Given the description of an element on the screen output the (x, y) to click on. 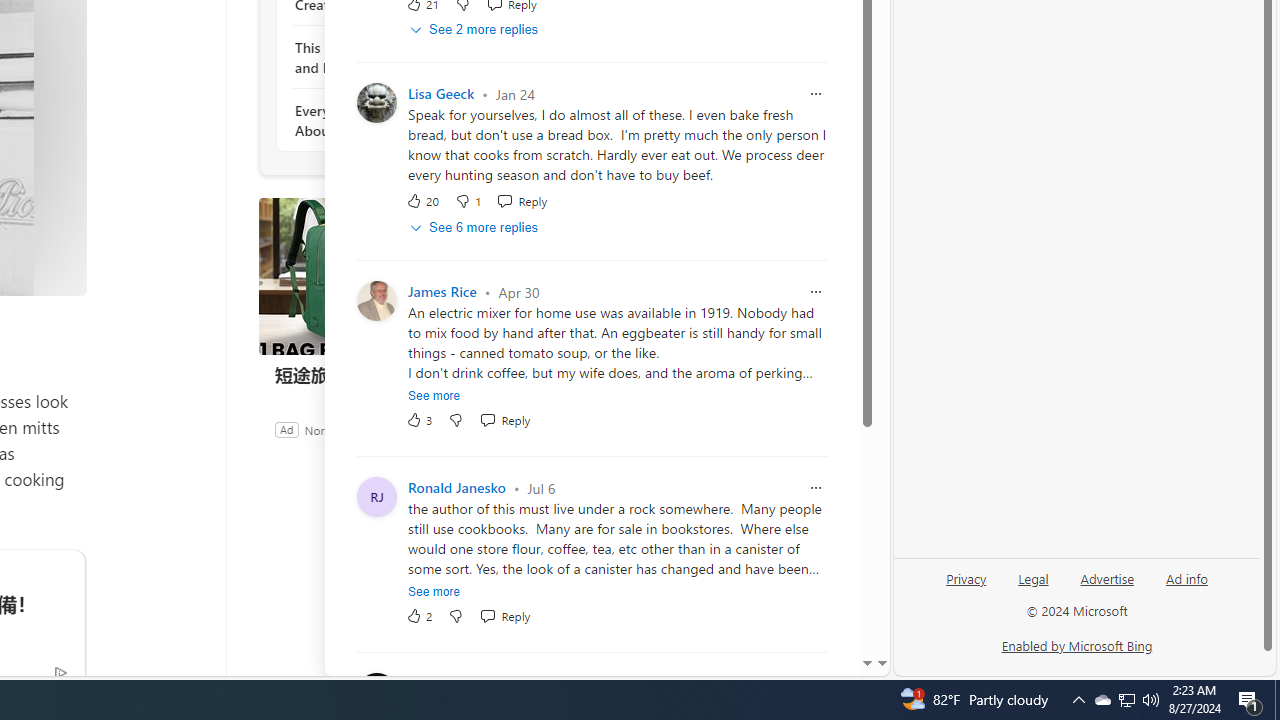
See 6 more replies (475, 228)
Profile Picture (376, 693)
Ronald Janesko (456, 488)
Profile Picture (376, 693)
3 Like (419, 420)
Report comment (815, 684)
20 Like (422, 200)
Lori B (426, 683)
